Given the description of an element on the screen output the (x, y) to click on. 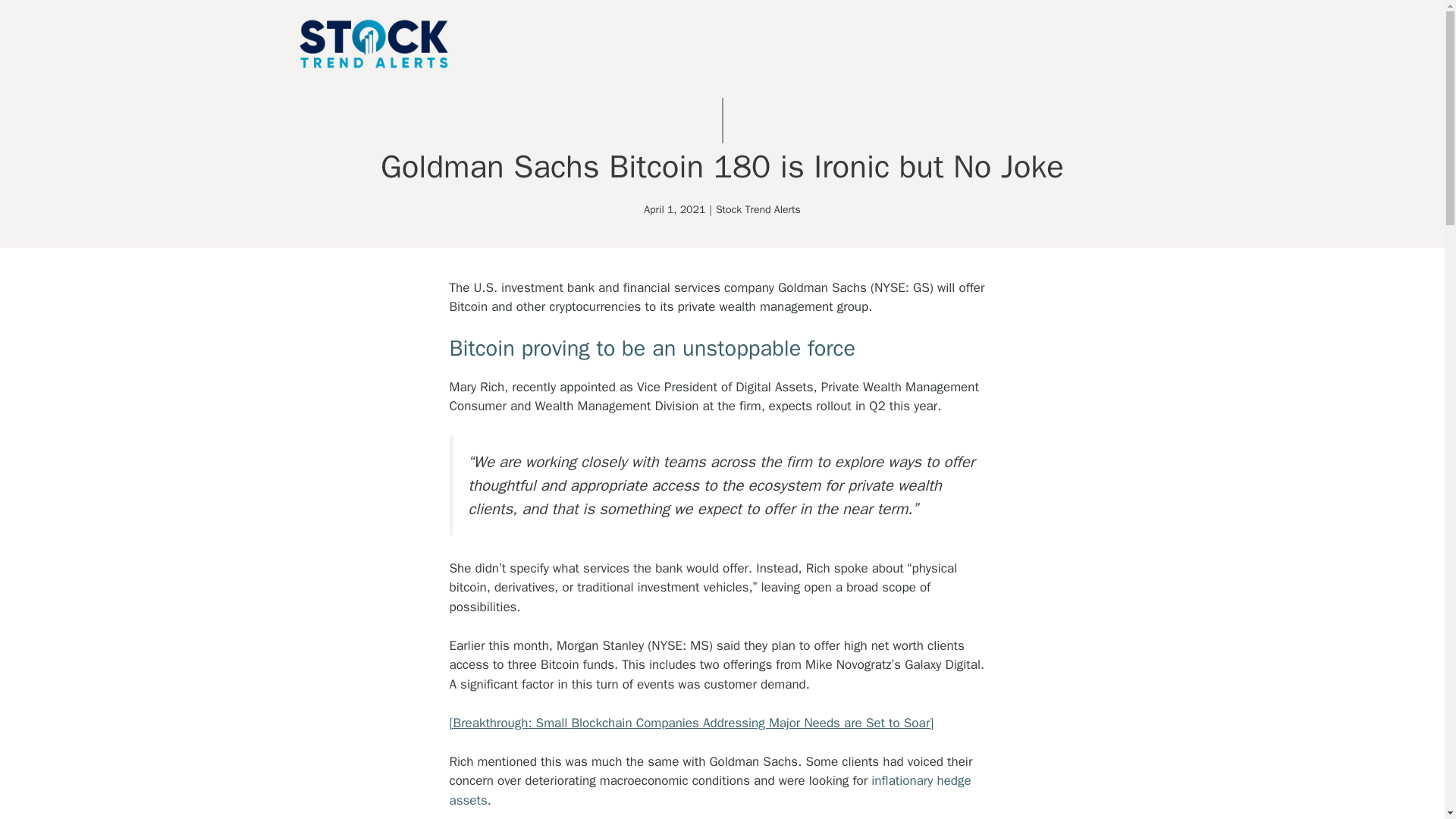
Stock Trend Alerts (758, 209)
inflationary hedge assets (709, 790)
